Given the description of an element on the screen output the (x, y) to click on. 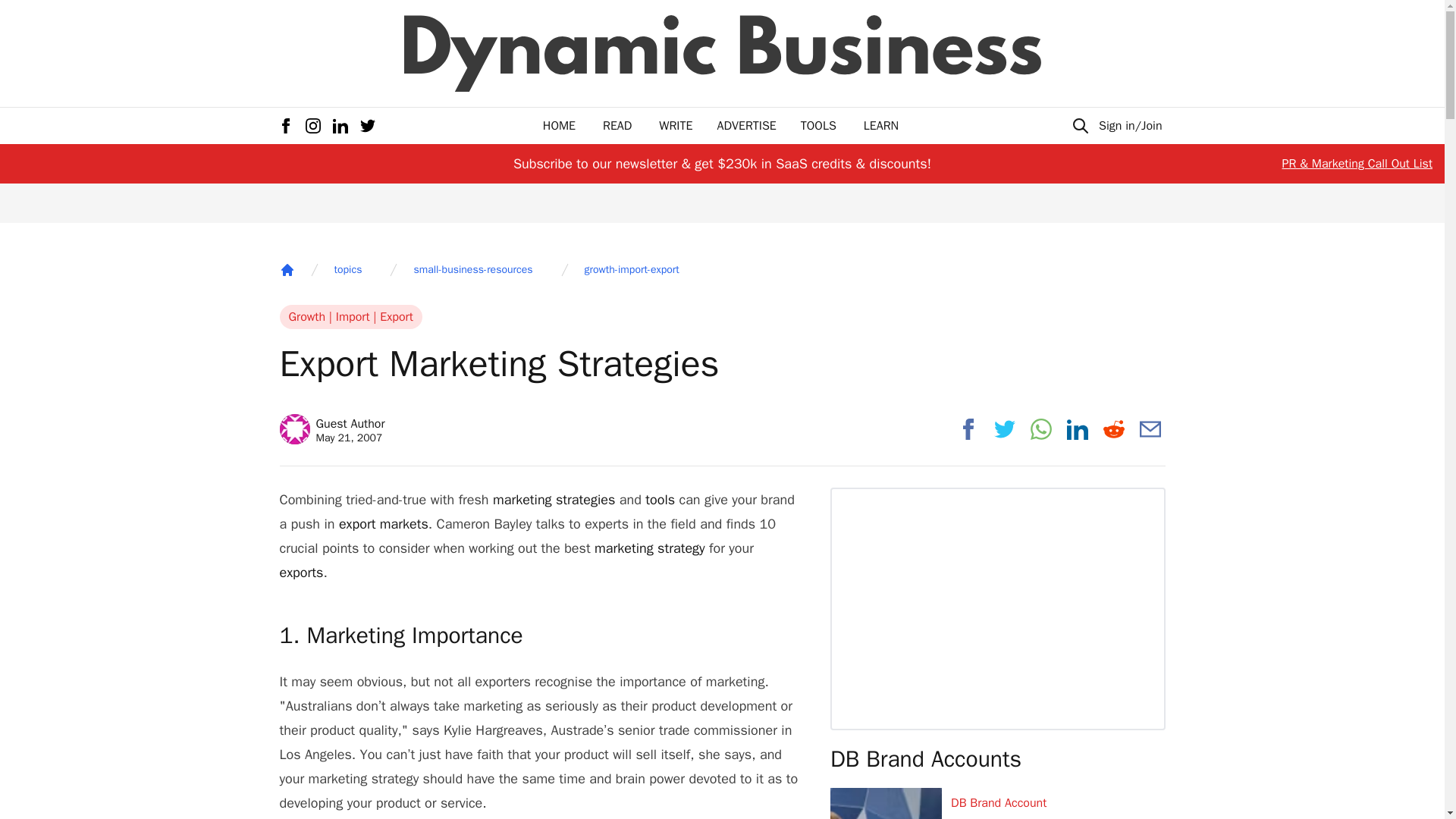
LEARN (880, 126)
TOOLS (817, 126)
DB Brand Account (1057, 802)
How integrating business processes creates time for growth (1057, 815)
HOME (331, 429)
WRITE (559, 126)
Home (676, 126)
READ (286, 269)
ADVERTISE (616, 126)
growth-import-export (746, 126)
topics (632, 269)
small-business-resources (347, 269)
